Given the description of an element on the screen output the (x, y) to click on. 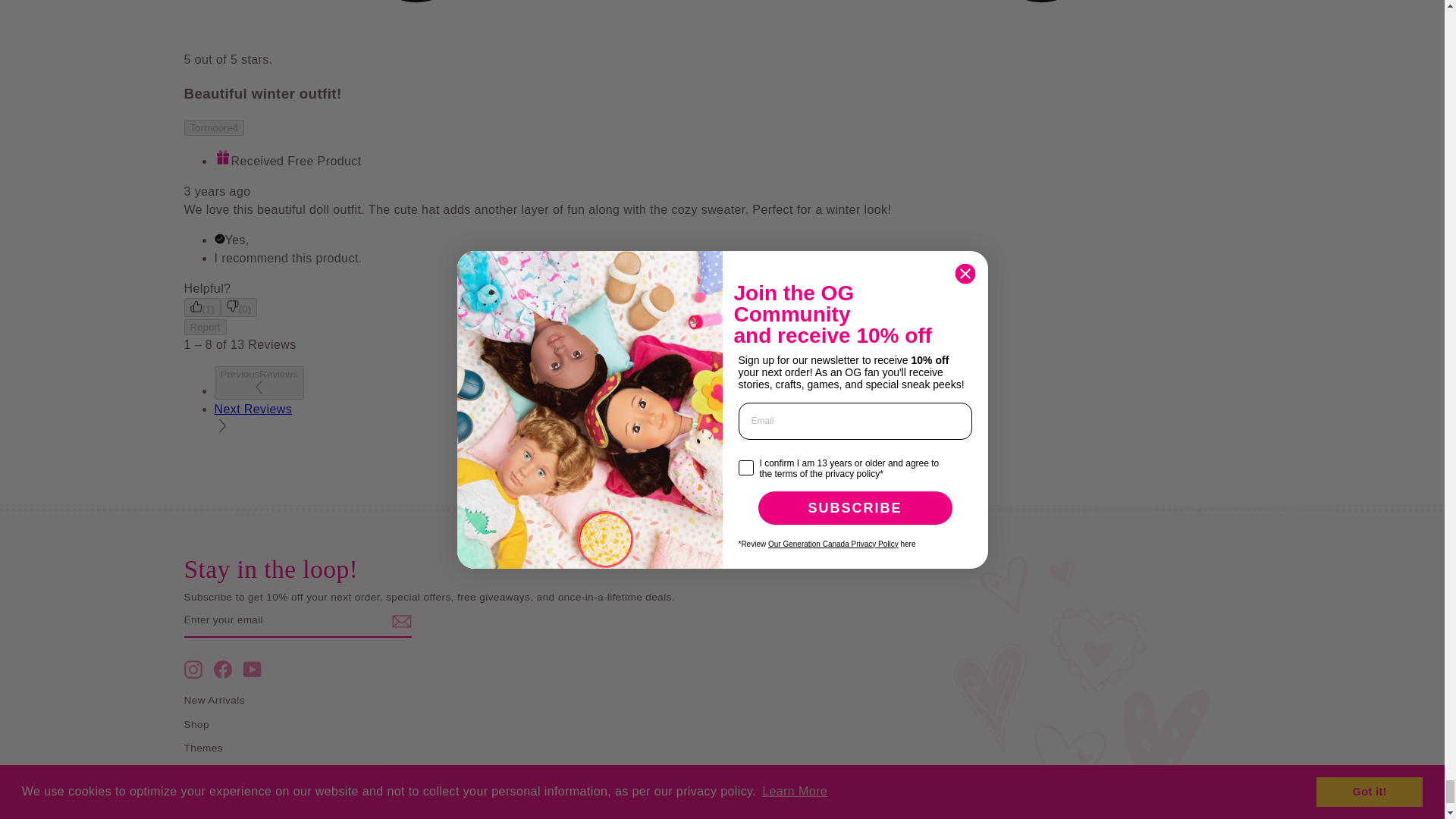
Our Generation - Canada on Instagram (192, 669)
Our Generation - Canada on YouTube (251, 669)
Our Generation - Canada on Facebook (222, 669)
